Given the description of an element on the screen output the (x, y) to click on. 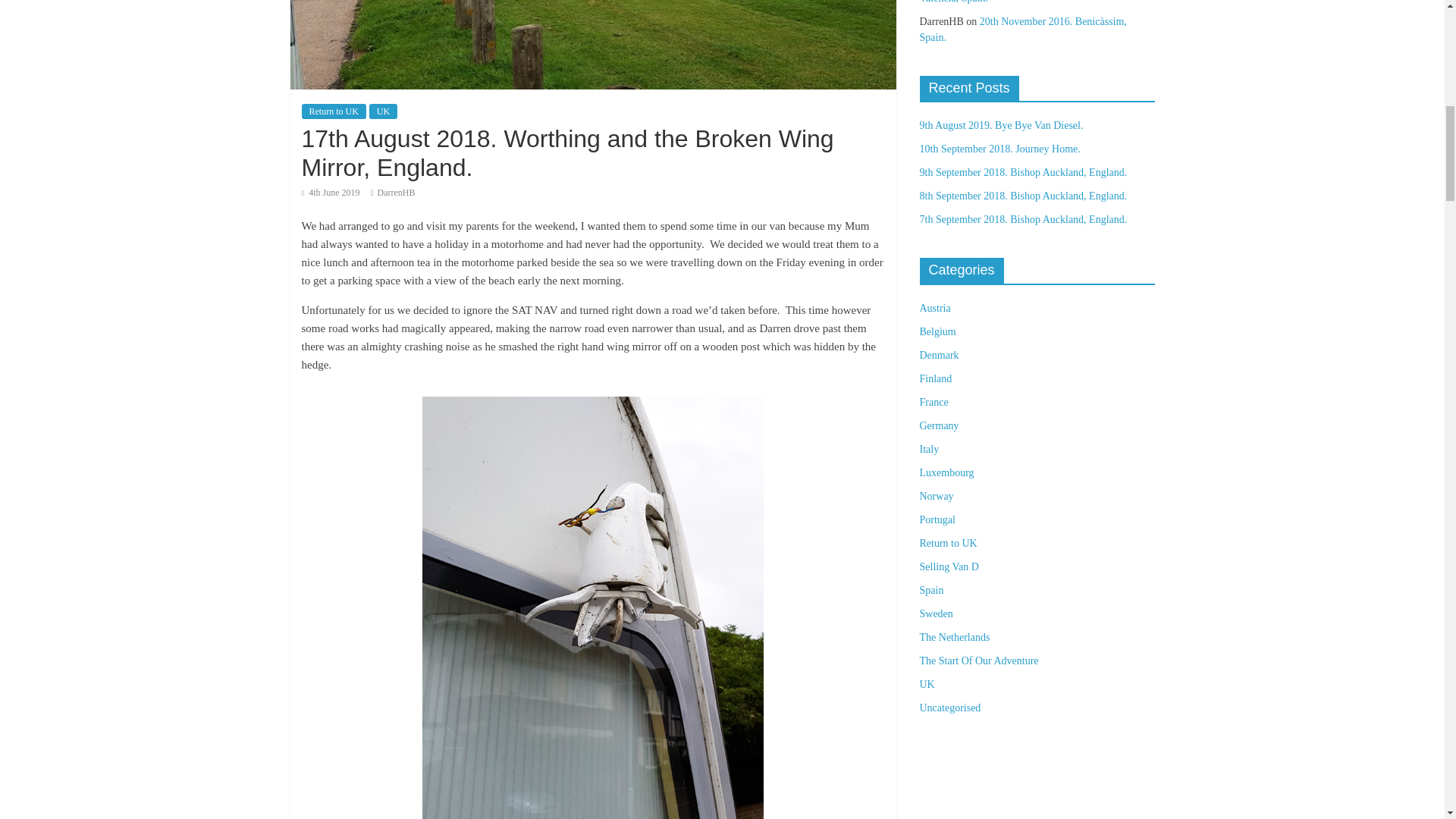
DarrenHB (395, 192)
11:20 am (330, 192)
